Given the description of an element on the screen output the (x, y) to click on. 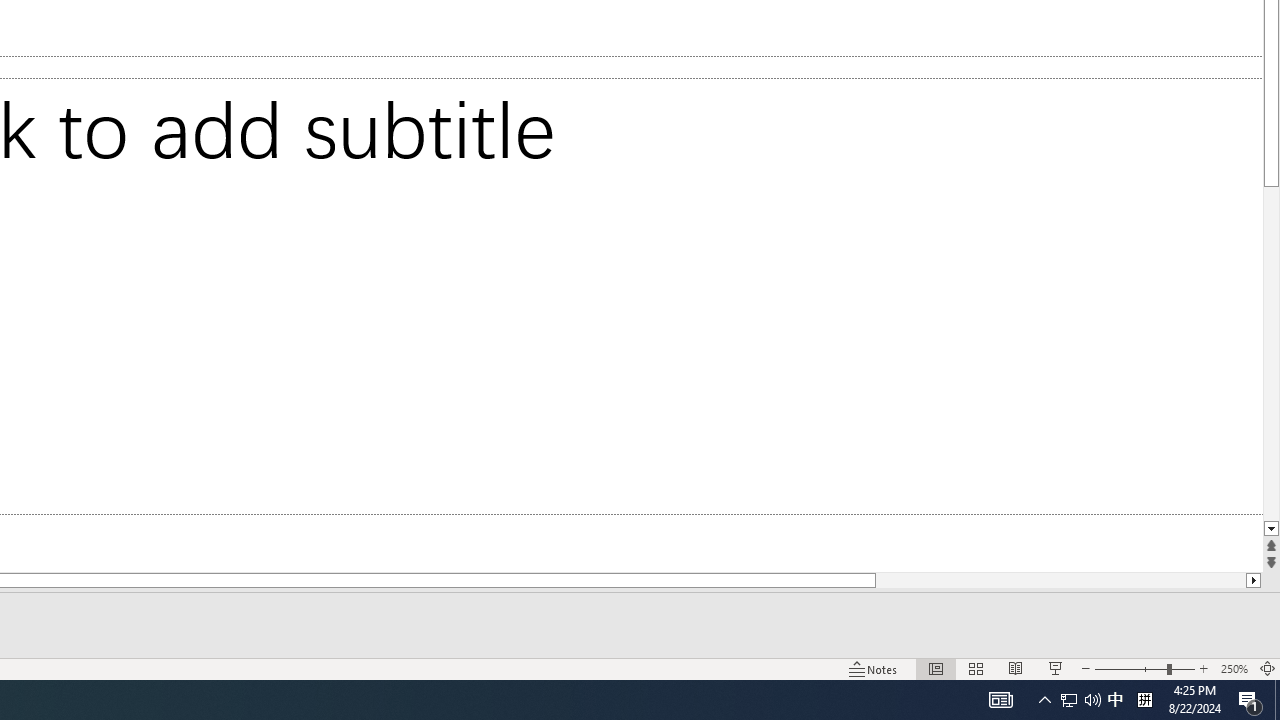
Zoom 250% (1234, 668)
